Given the description of an element on the screen output the (x, y) to click on. 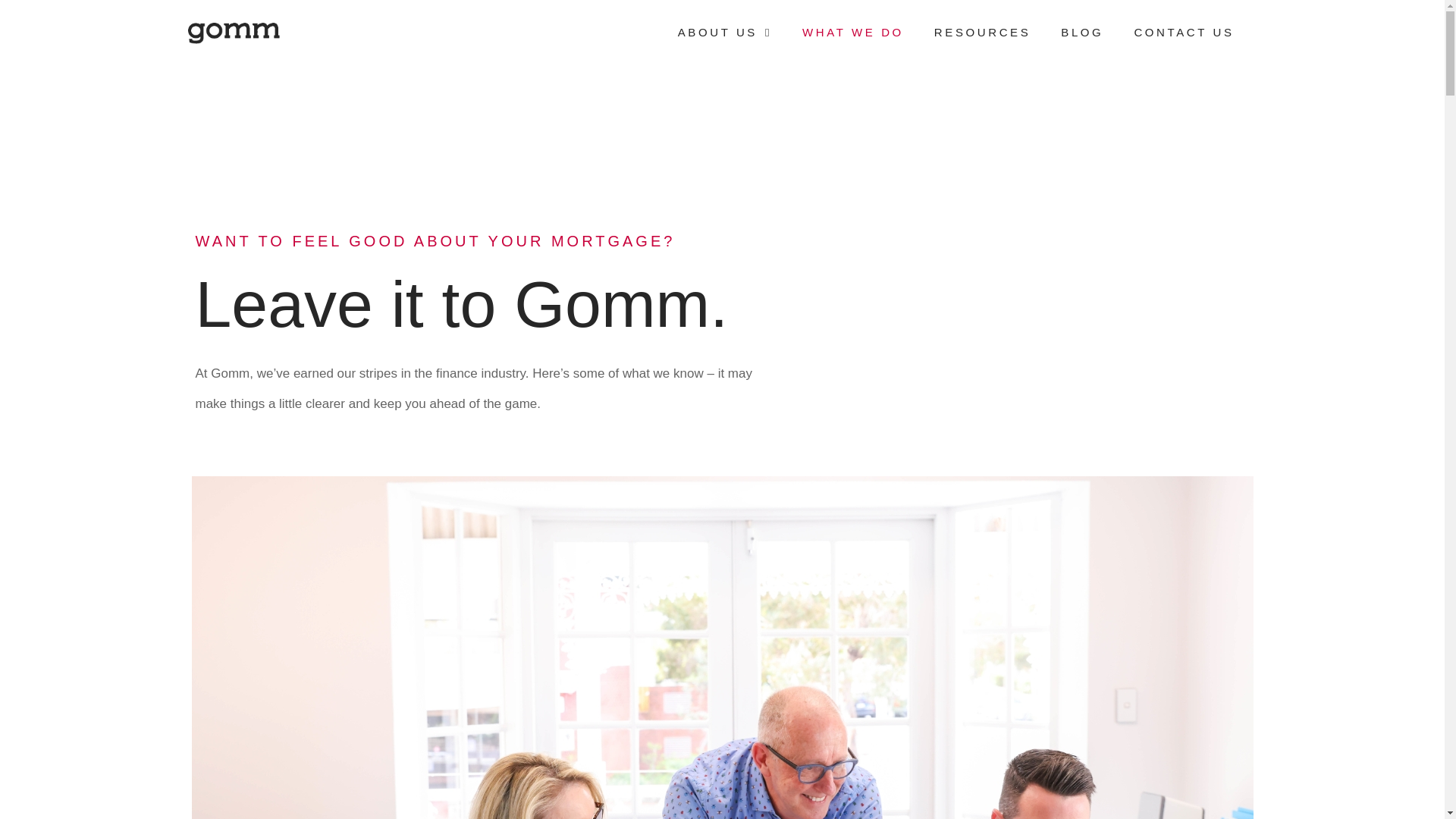
BLOG Element type: text (1081, 32)
CONTACT US Element type: text (1183, 32)
WHAT WE DO Element type: text (853, 32)
RESOURCES Element type: text (982, 32)
ABOUT US Element type: text (724, 32)
